Given the description of an element on the screen output the (x, y) to click on. 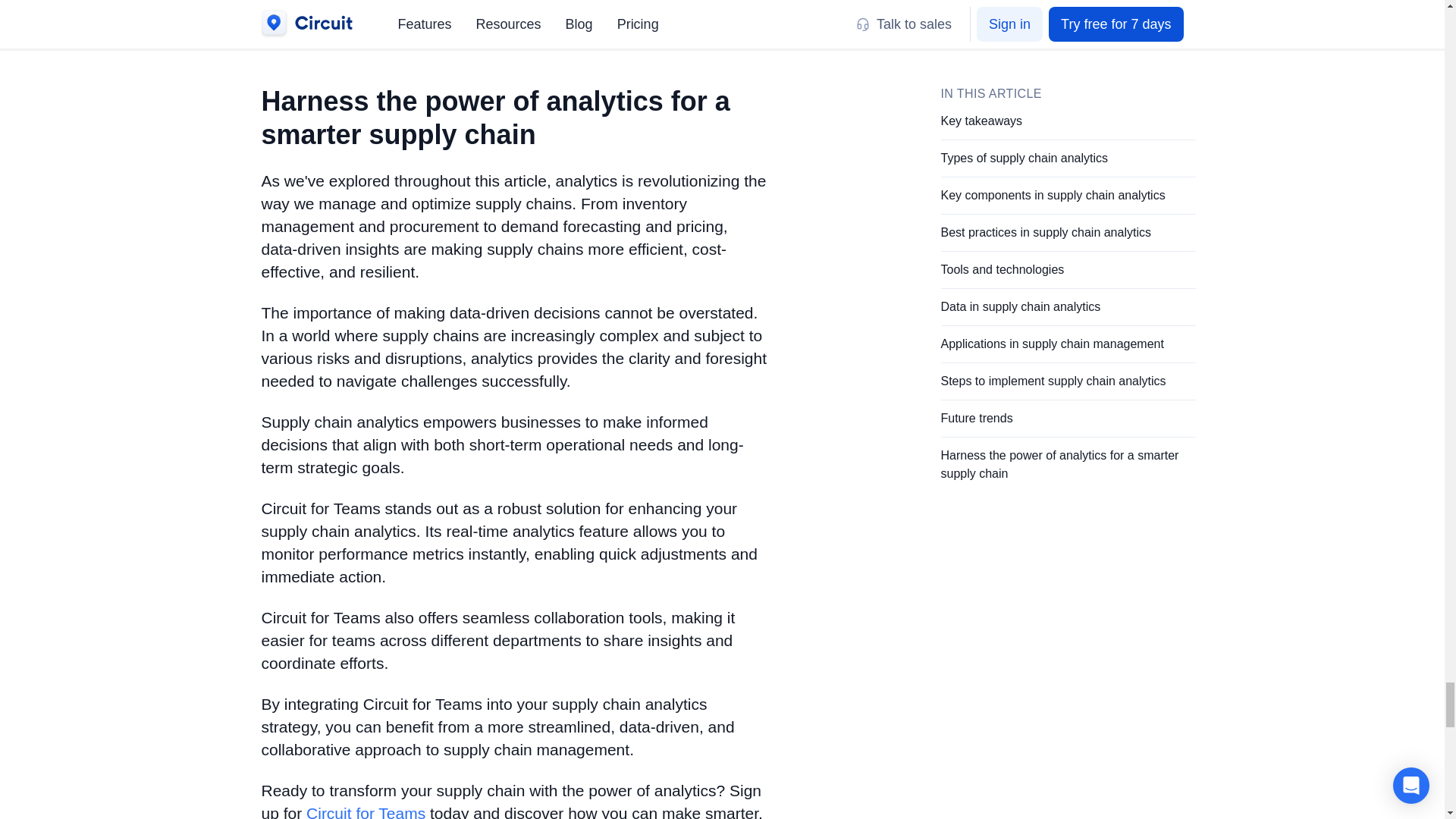
Circuit for Teams (365, 811)
